Given the description of an element on the screen output the (x, y) to click on. 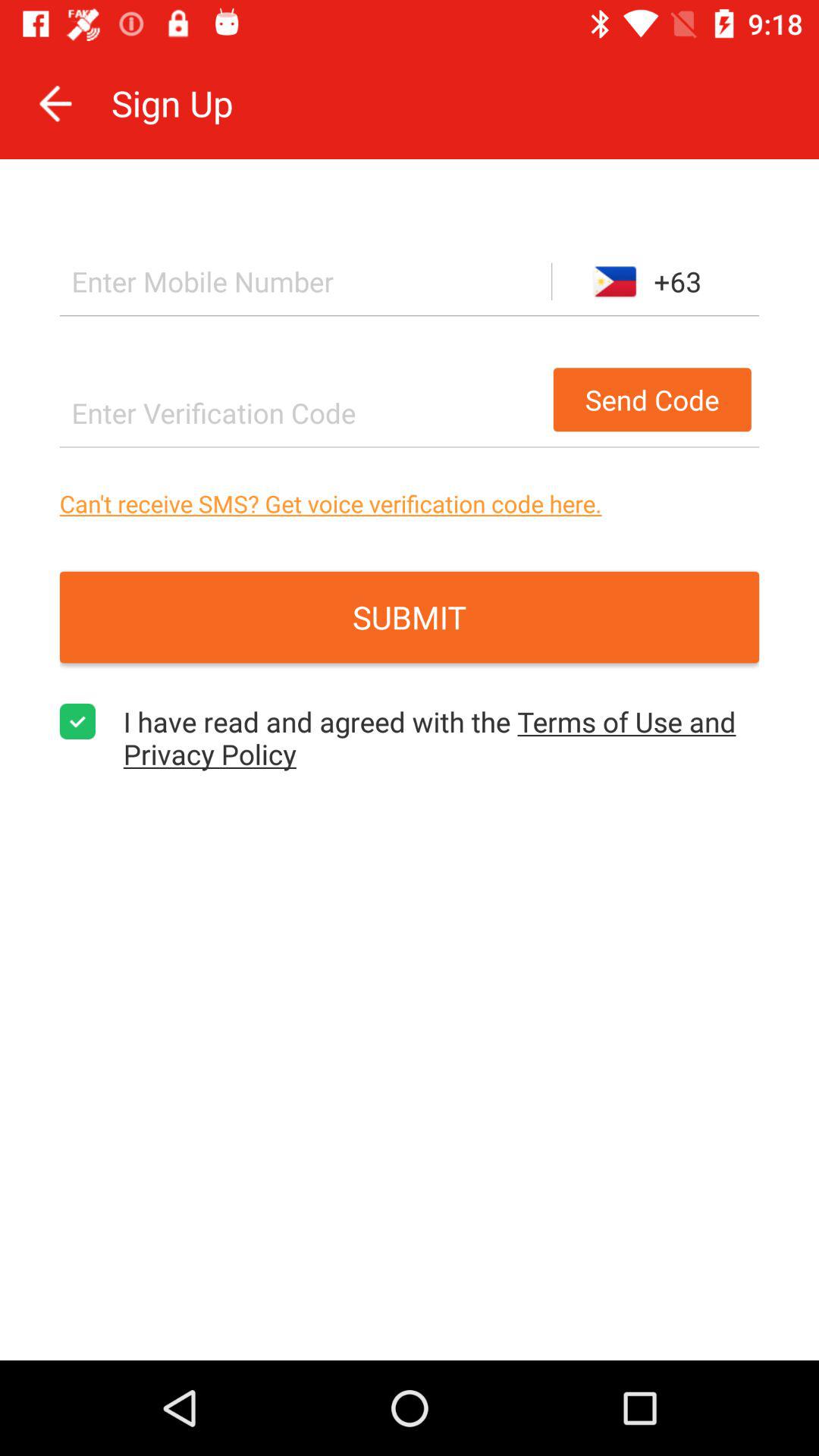
launch the submit (409, 617)
